Given the description of an element on the screen output the (x, y) to click on. 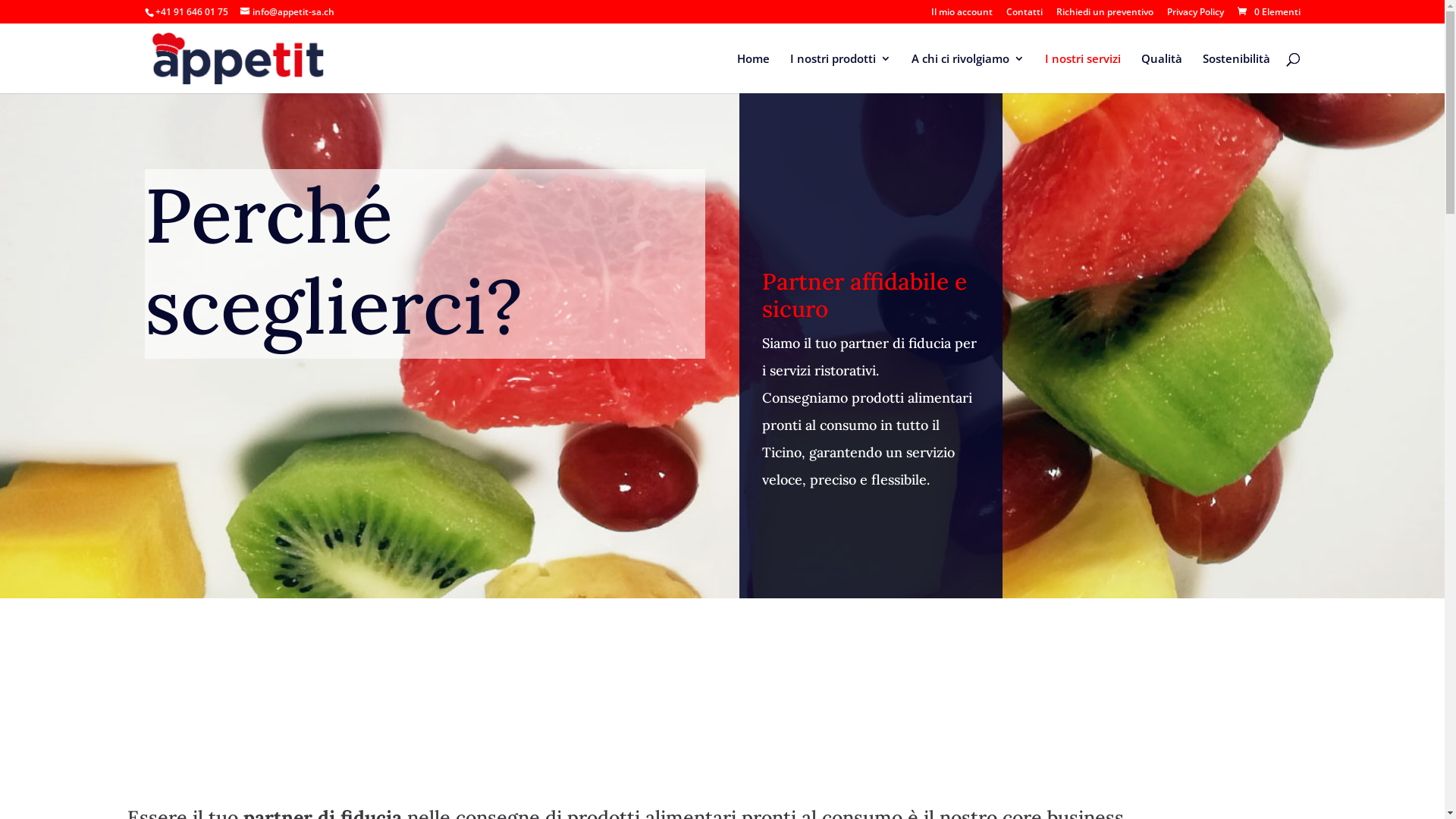
Il mio account Element type: text (961, 15)
I nostri prodotti Element type: text (840, 73)
Richiedi un preventivo Element type: text (1103, 15)
A chi ci rivolgiamo Element type: text (967, 73)
info@appetit-sa.ch Element type: text (286, 11)
0 Elementi Element type: text (1266, 11)
I nostri servizi Element type: text (1082, 73)
Contatti Element type: text (1023, 15)
Privacy Policy Element type: text (1194, 15)
Home Element type: text (753, 73)
